Given the description of an element on the screen output the (x, y) to click on. 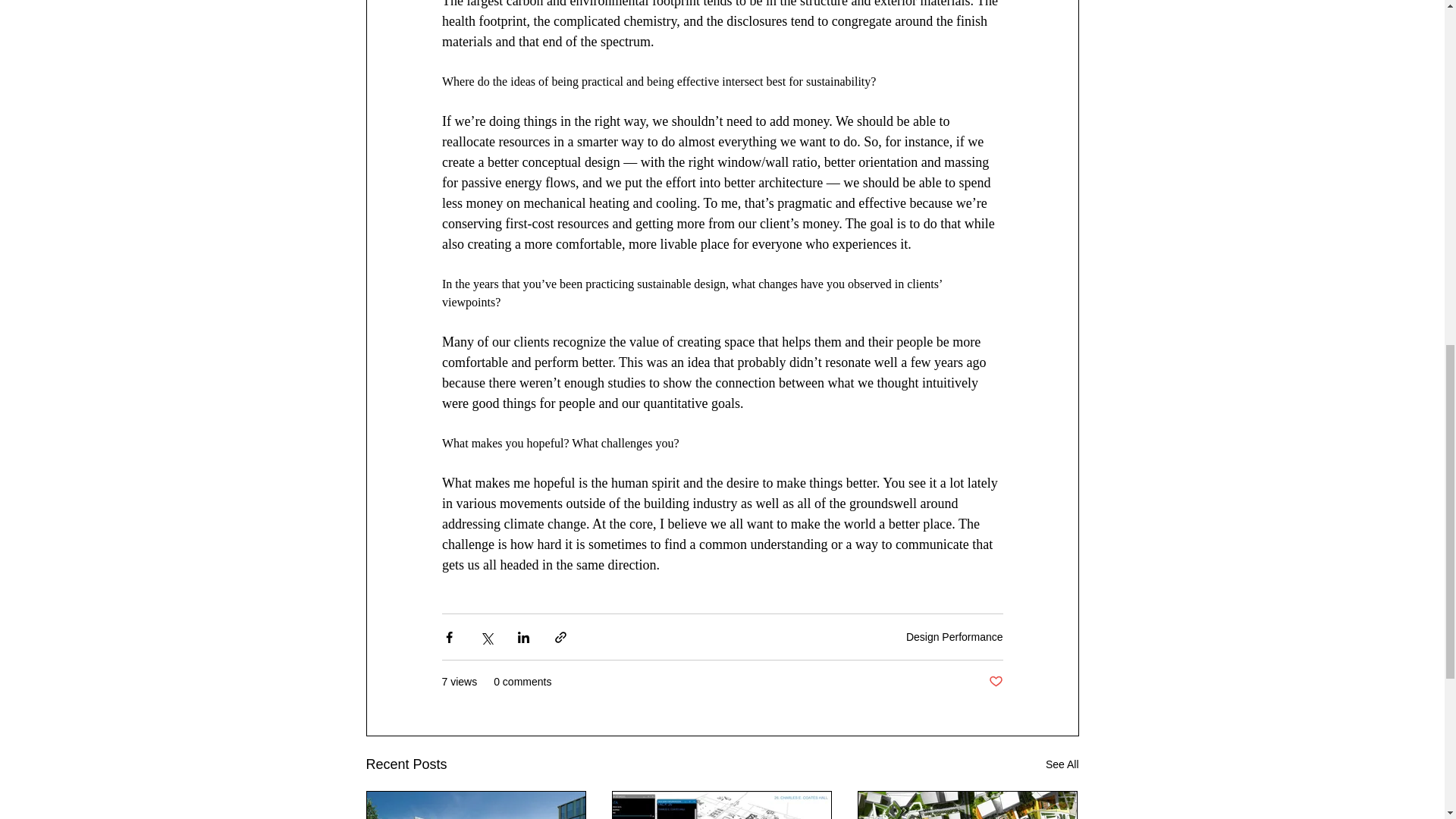
Post not marked as liked (995, 682)
Design Performance (954, 636)
See All (1061, 764)
